Given the description of an element on the screen output the (x, y) to click on. 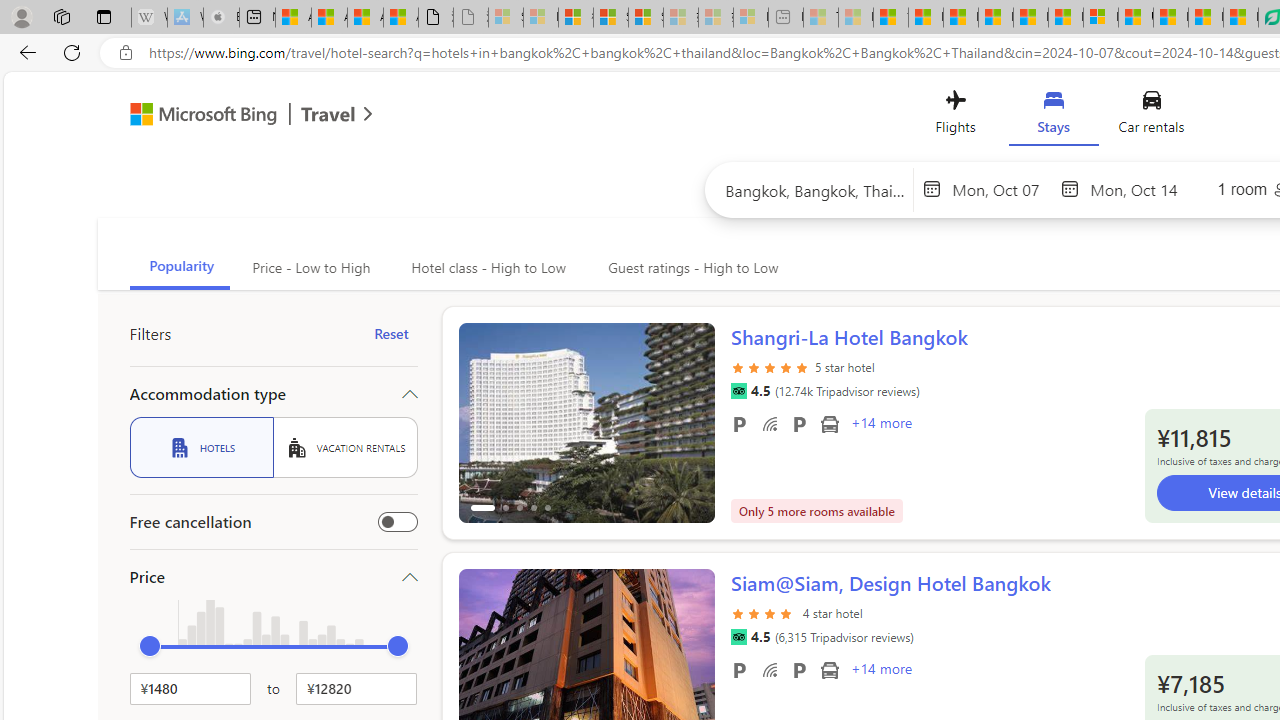
Microsoft Services Agreement - Sleeping (540, 17)
ScrollRight (690, 660)
HOTELS (201, 447)
Microsoft Bing (194, 116)
Wikipedia - Sleeping (149, 17)
